Given the description of an element on the screen output the (x, y) to click on. 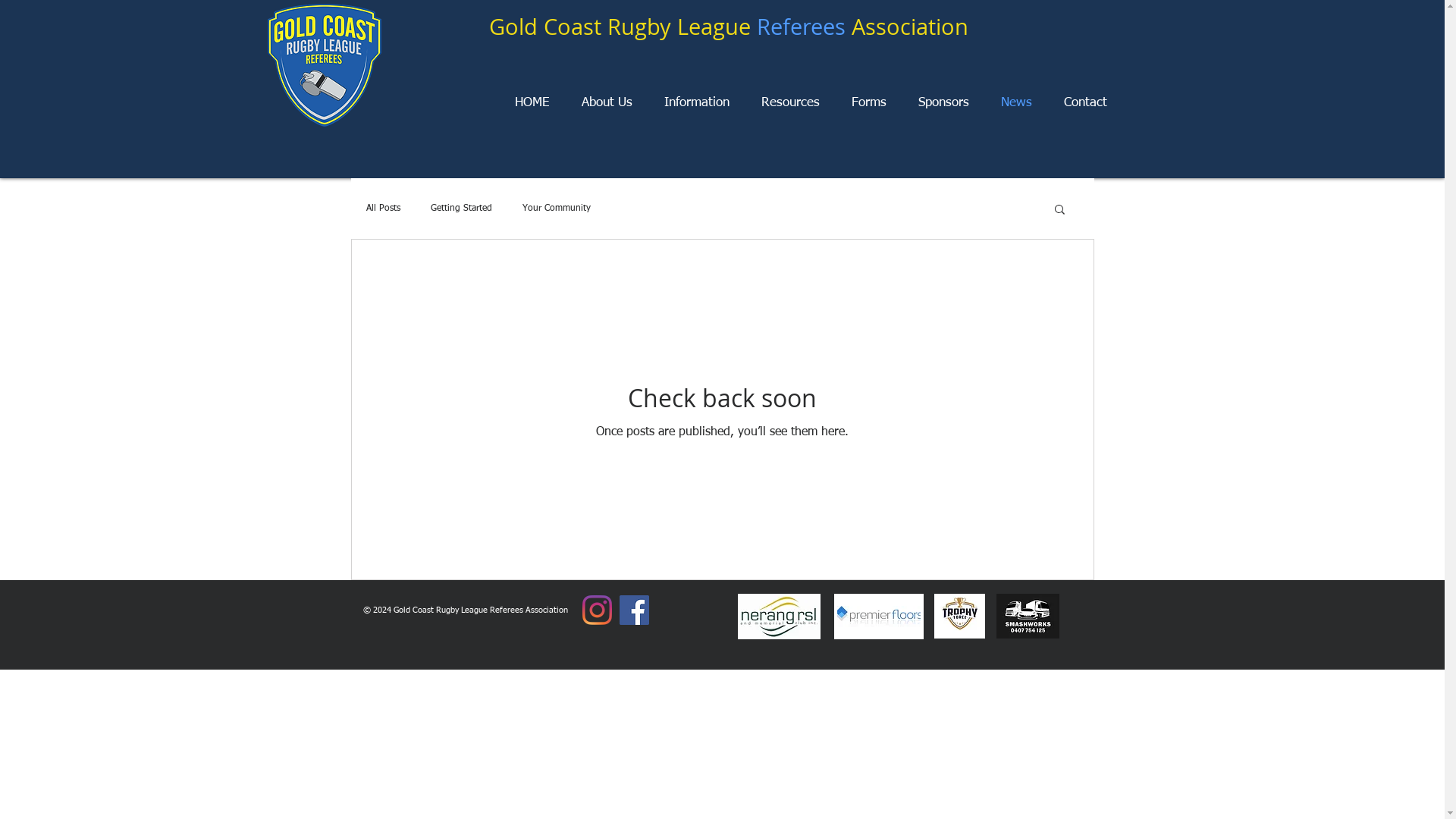
Resources Element type: text (789, 103)
Contact Element type: text (1085, 103)
Getting Started Element type: text (461, 208)
Gold Coast Rugby League Referees Association Element type: text (727, 26)
Your Community Element type: text (555, 208)
HOME Element type: text (531, 103)
Sponsors Element type: text (943, 103)
News Element type: text (1015, 103)
All Posts Element type: text (382, 208)
About Us Element type: text (606, 103)
